Given the description of an element on the screen output the (x, y) to click on. 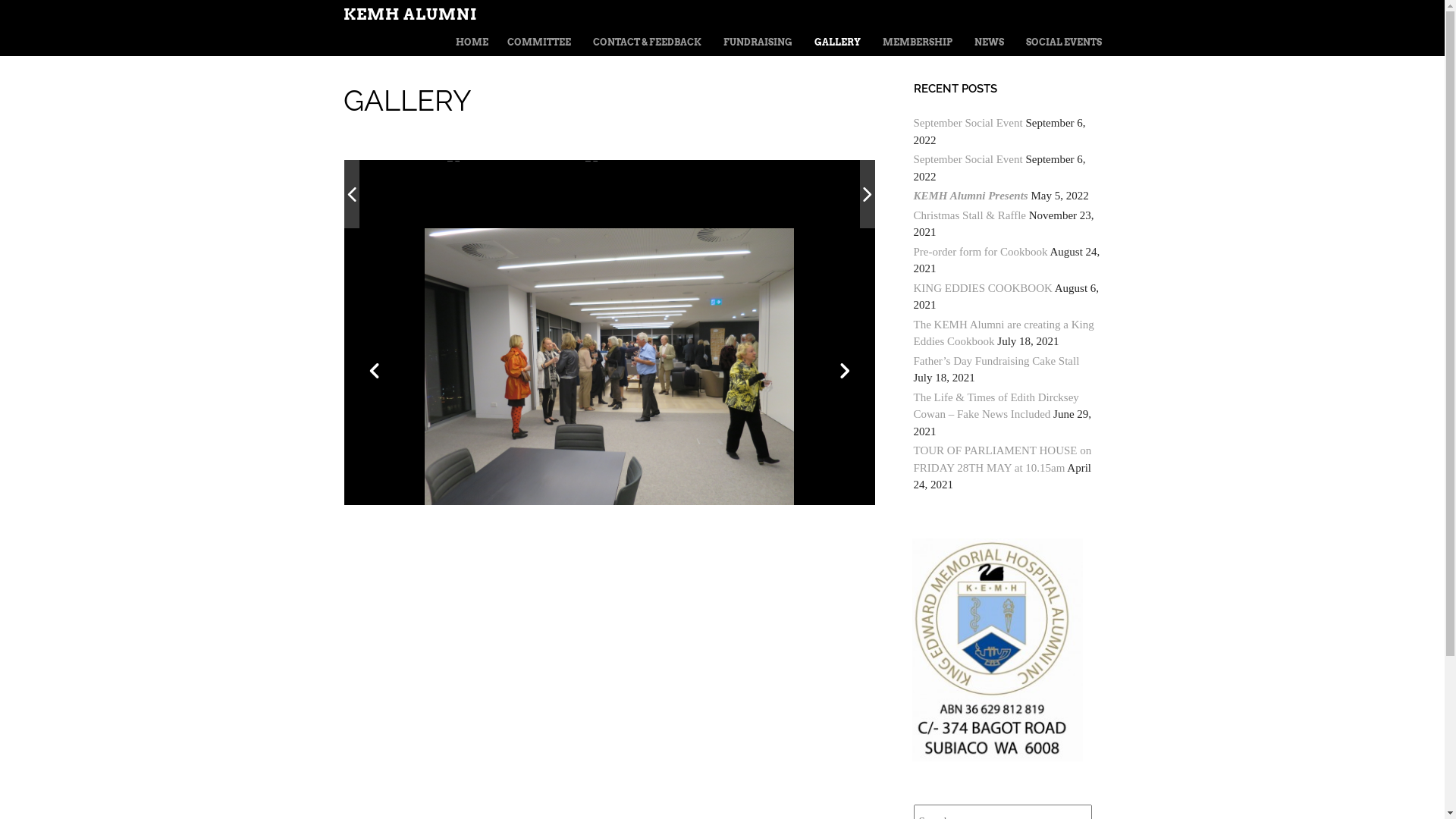
Christmas Stall & Raffle Element type: text (969, 215)
September Social Event Element type: text (967, 122)
IMG 6445            Element type: hover (805, 193)
SKIP TO CONTENT Element type: text (480, 42)
IMG 6663 AGM Bling social event July 2017            Element type: hover (677, 194)
TOUR OF PARLIAMENT HOUSE on FRIDAY 28TH MAY at 10.15am Element type: text (1002, 458)
KEMH Alumni Presents Element type: text (970, 195)
GALLERY Element type: text (837, 42)
SOCIAL EVENTS Element type: text (1063, 42)
HOME Element type: text (471, 42)
KEMH ALUMNI Element type: text (409, 14)
NEWS Element type: text (988, 42)
COMMITTEE Element type: text (538, 42)
Search Element type: text (43, 9)
IMG 1831    Element type: hover (420, 195)
September Social Event Element type: text (967, 159)
IMG 6671 AGM Bling social event July 2017            Element type: hover (545, 194)
MEMBERSHIP Element type: text (917, 42)
Pre-order form for Cookbook Element type: text (980, 251)
The KEMH Alumni are creating a King Eddies Cookbook Element type: text (1003, 333)
KING EDDIES COOKBOOK Element type: text (982, 288)
FUNDRAISING Element type: text (757, 42)
CONTACT & FEEDBACK Element type: text (647, 42)
